Given the description of an element on the screen output the (x, y) to click on. 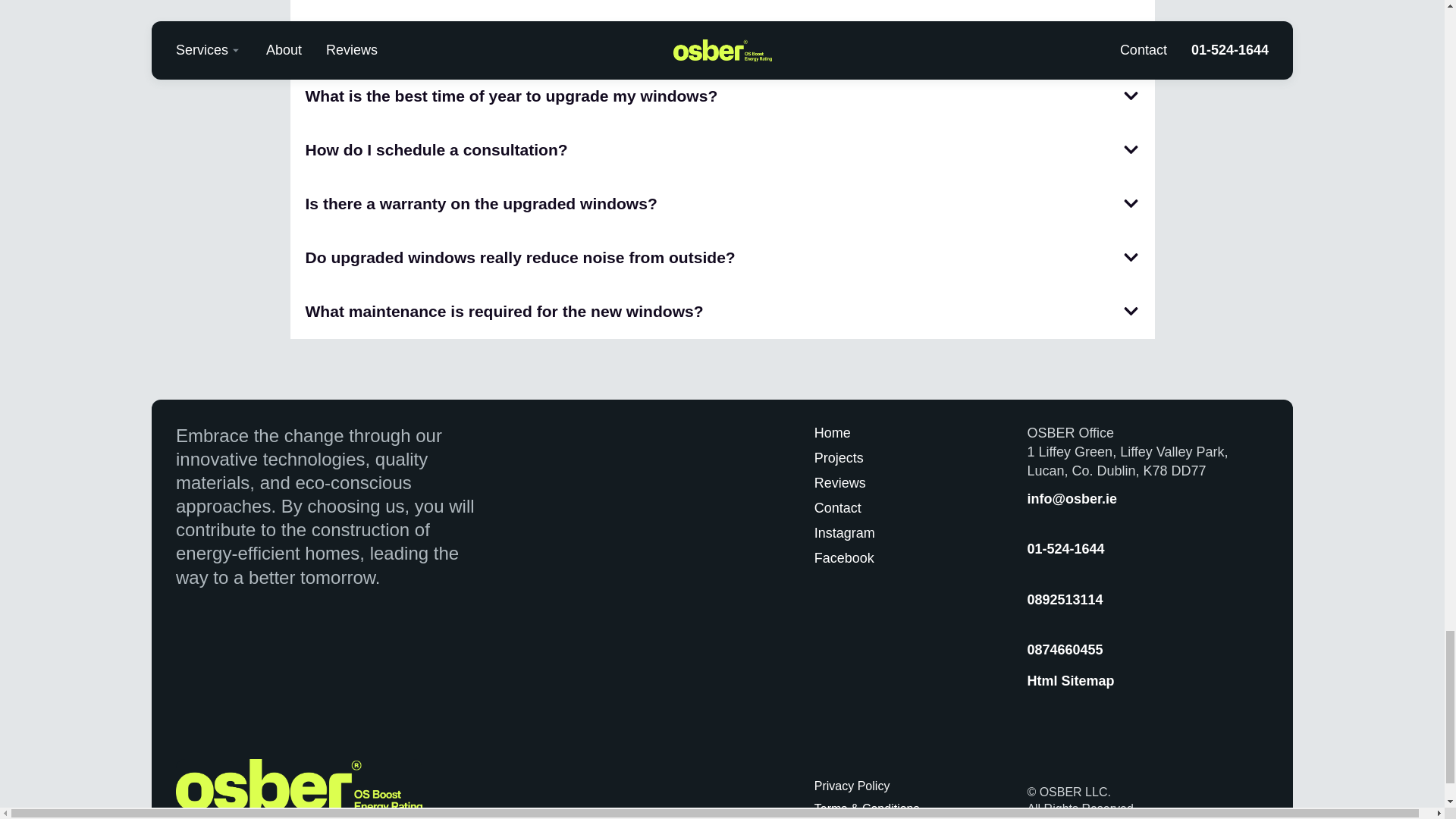
How do I schedule a consultation? (435, 149)
What maintenance is required for the new windows? (503, 311)
What is the best time of year to upgrade my windows? (510, 95)
Do upgraded windows really reduce noise from outside? (519, 257)
Is there a warranty on the upgraded windows? (480, 203)
